Given the description of an element on the screen output the (x, y) to click on. 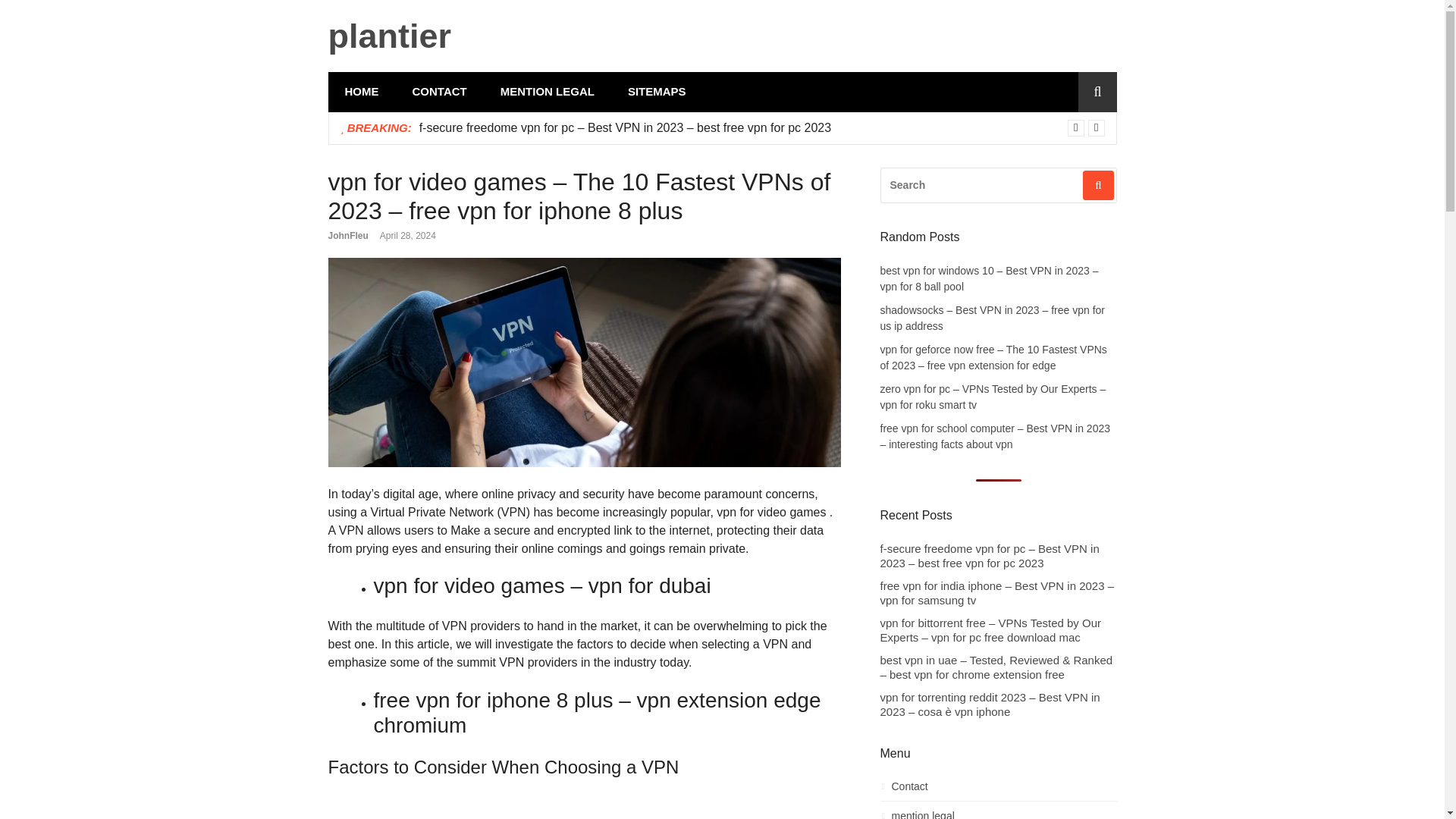
HOME (360, 92)
CONTACT (439, 92)
MENTION LEGAL (547, 92)
plantier (389, 35)
SITEMAPS (657, 92)
JohnFleu (347, 235)
